Given the description of an element on the screen output the (x, y) to click on. 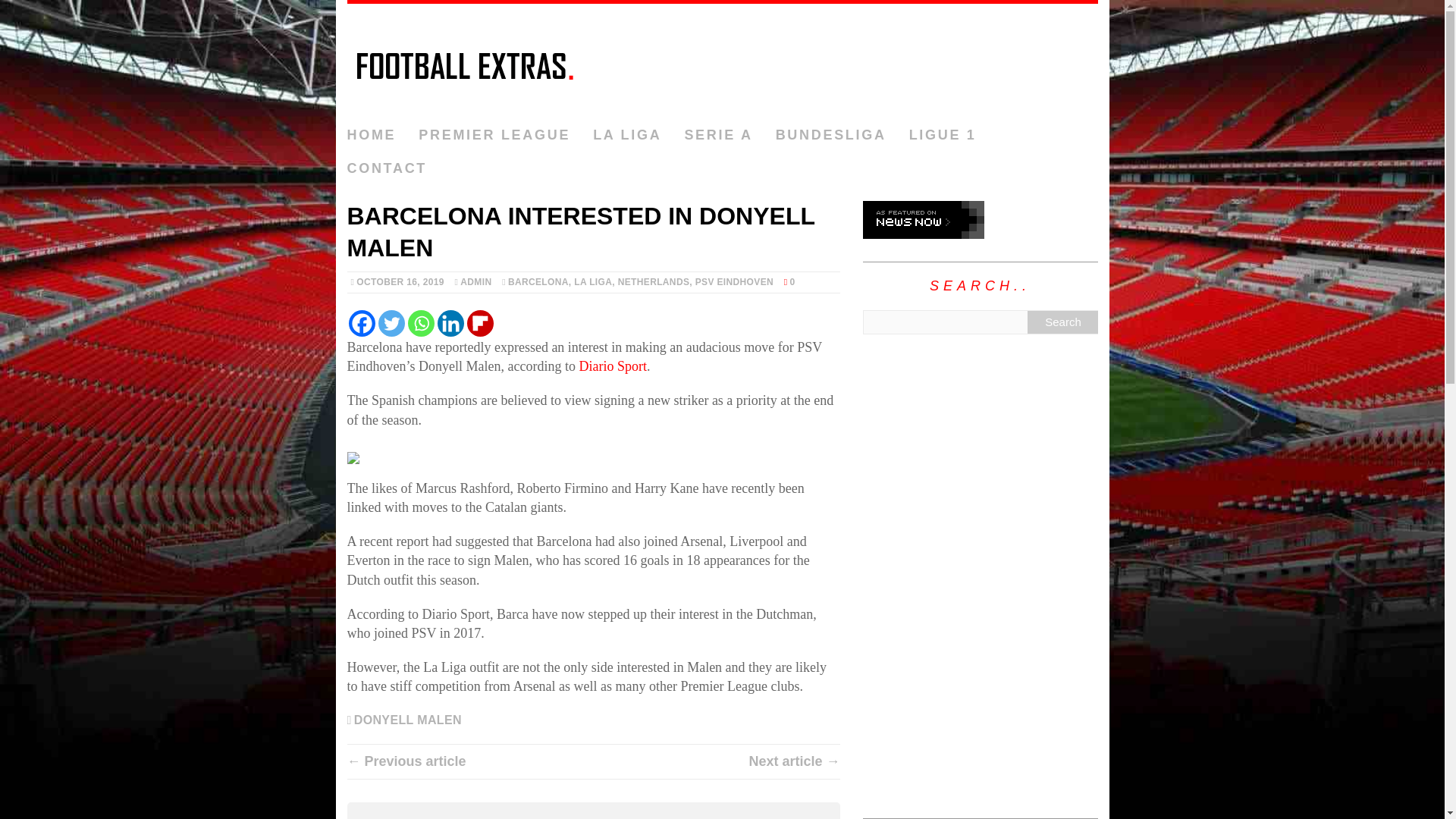
HOME (371, 135)
Linkedin (449, 323)
Posts by Admin (476, 281)
SERIE A (718, 135)
PSV EINDHOVEN (734, 281)
Advertisement (980, 679)
DONYELL MALEN (407, 719)
Search (1062, 322)
LA LIGA (592, 281)
LA LIGA (626, 135)
